Given the description of an element on the screen output the (x, y) to click on. 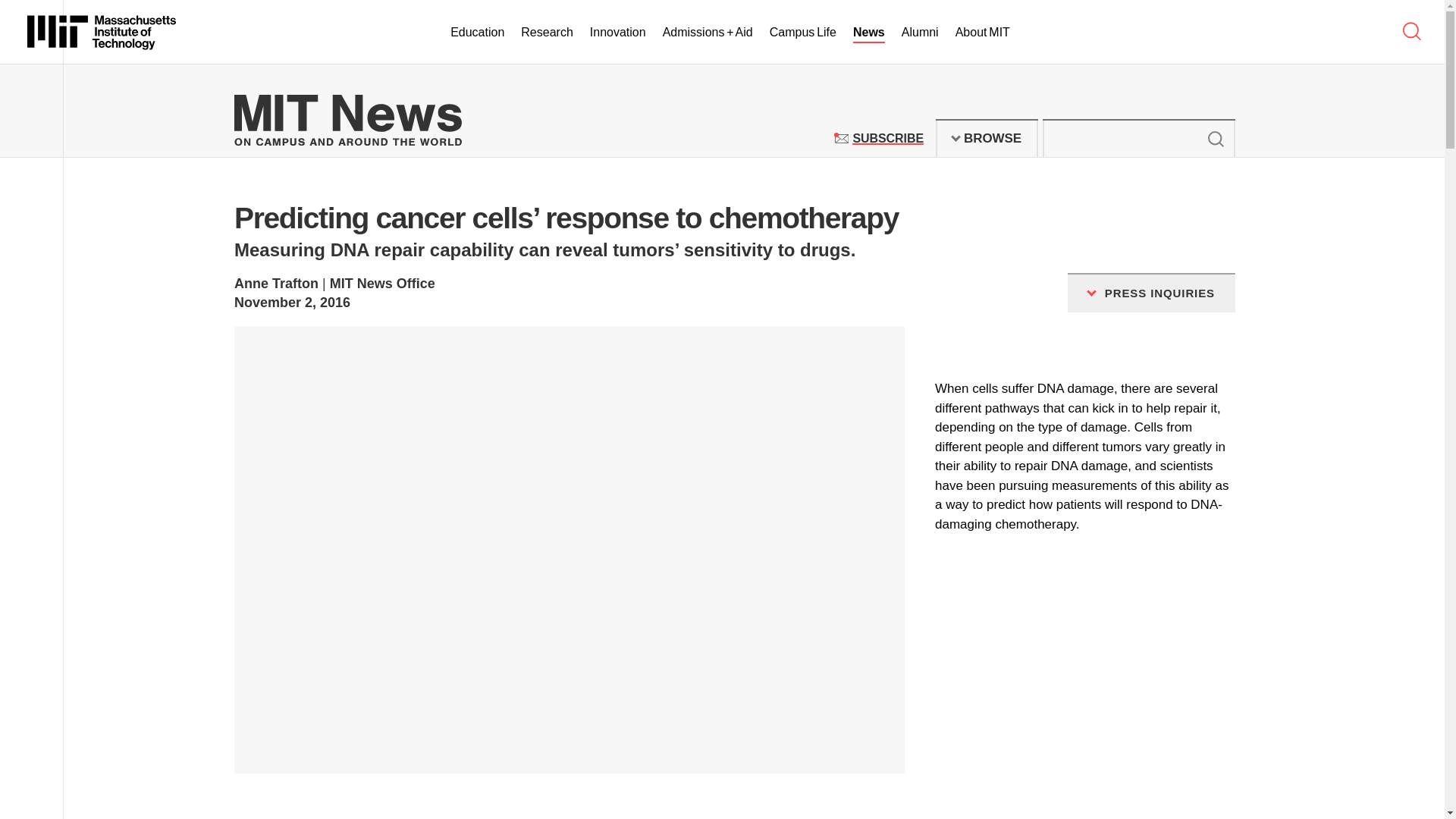
Submit (1214, 138)
Campus Life (802, 32)
BROWSE (887, 137)
Massachusetts Institute of Technology (987, 138)
